Given the description of an element on the screen output the (x, y) to click on. 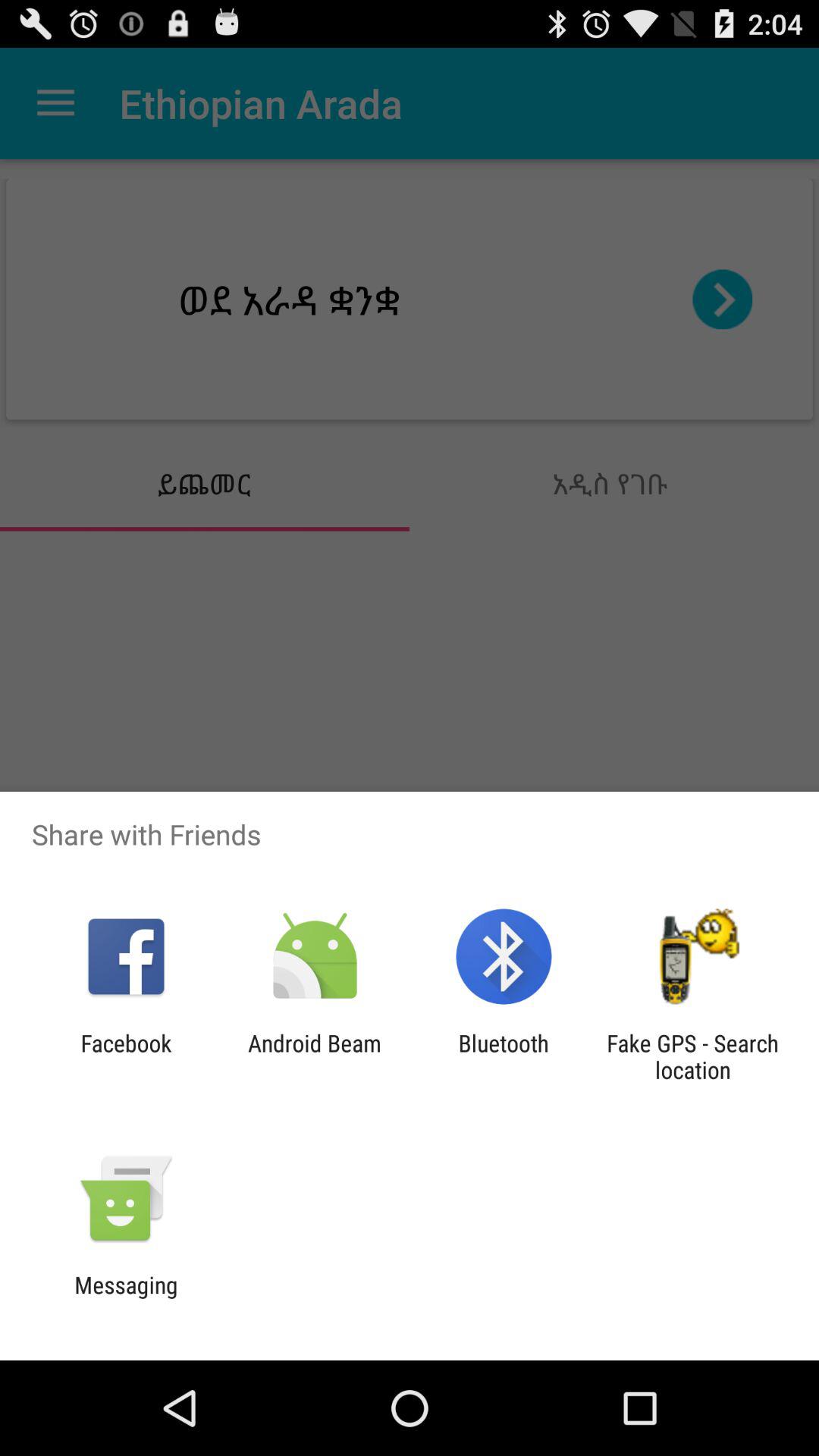
turn on messaging app (126, 1298)
